Given the description of an element on the screen output the (x, y) to click on. 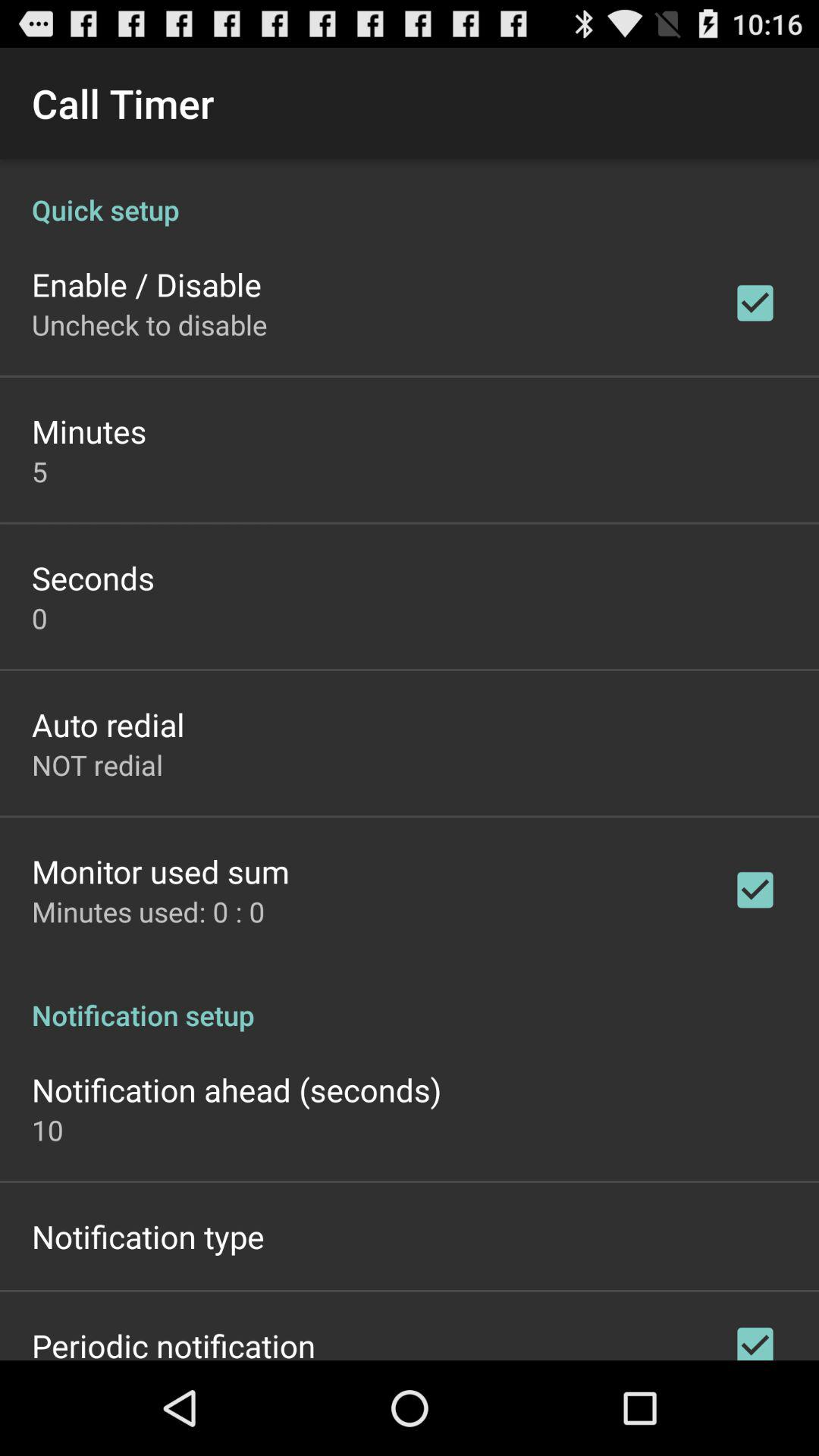
launch uncheck to disable item (149, 324)
